Given the description of an element on the screen output the (x, y) to click on. 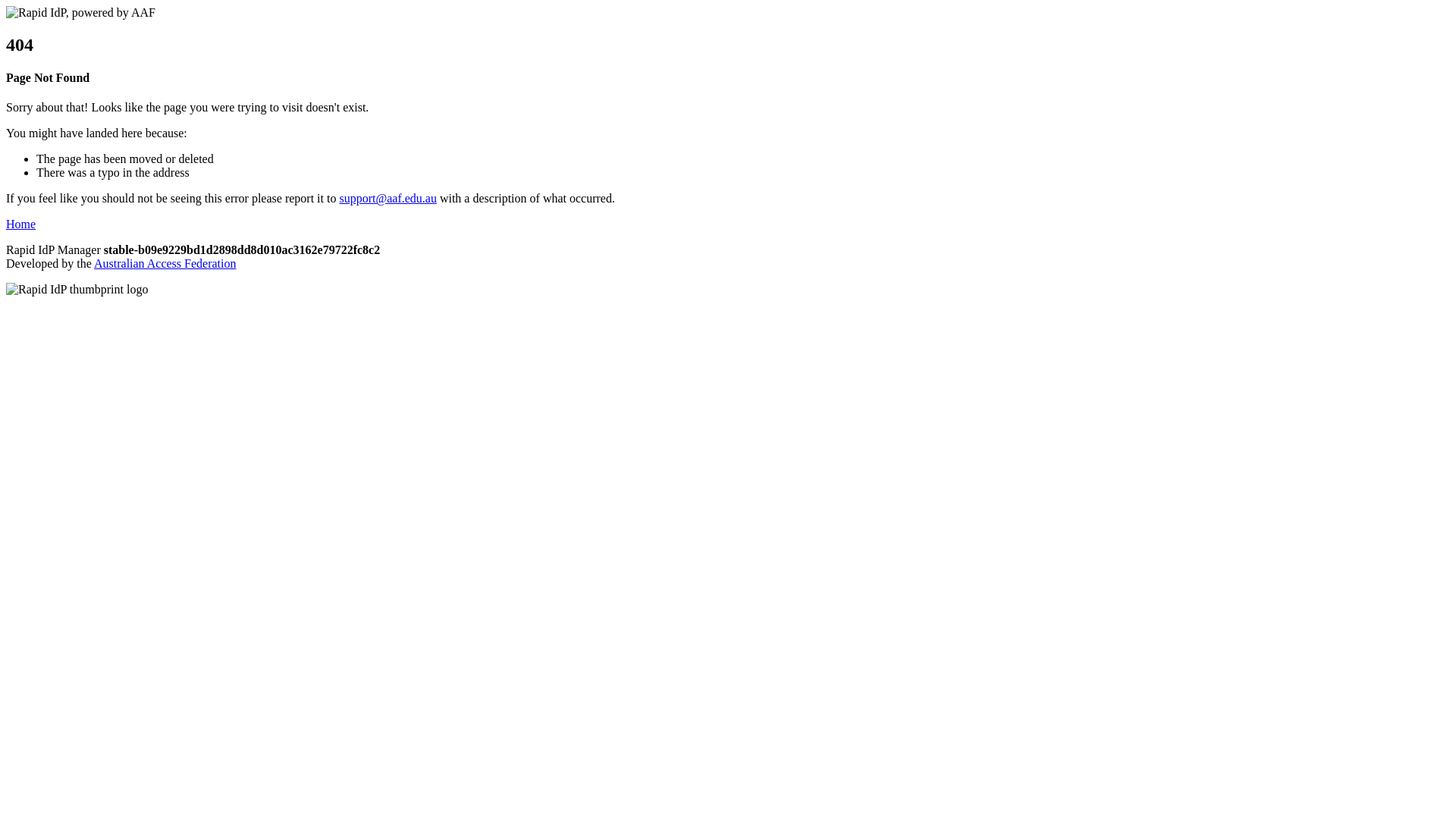
Home Element type: text (20, 223)
Australian Access Federation Element type: text (165, 263)
support@aaf.edu.au Element type: text (387, 197)
